Given the description of an element on the screen output the (x, y) to click on. 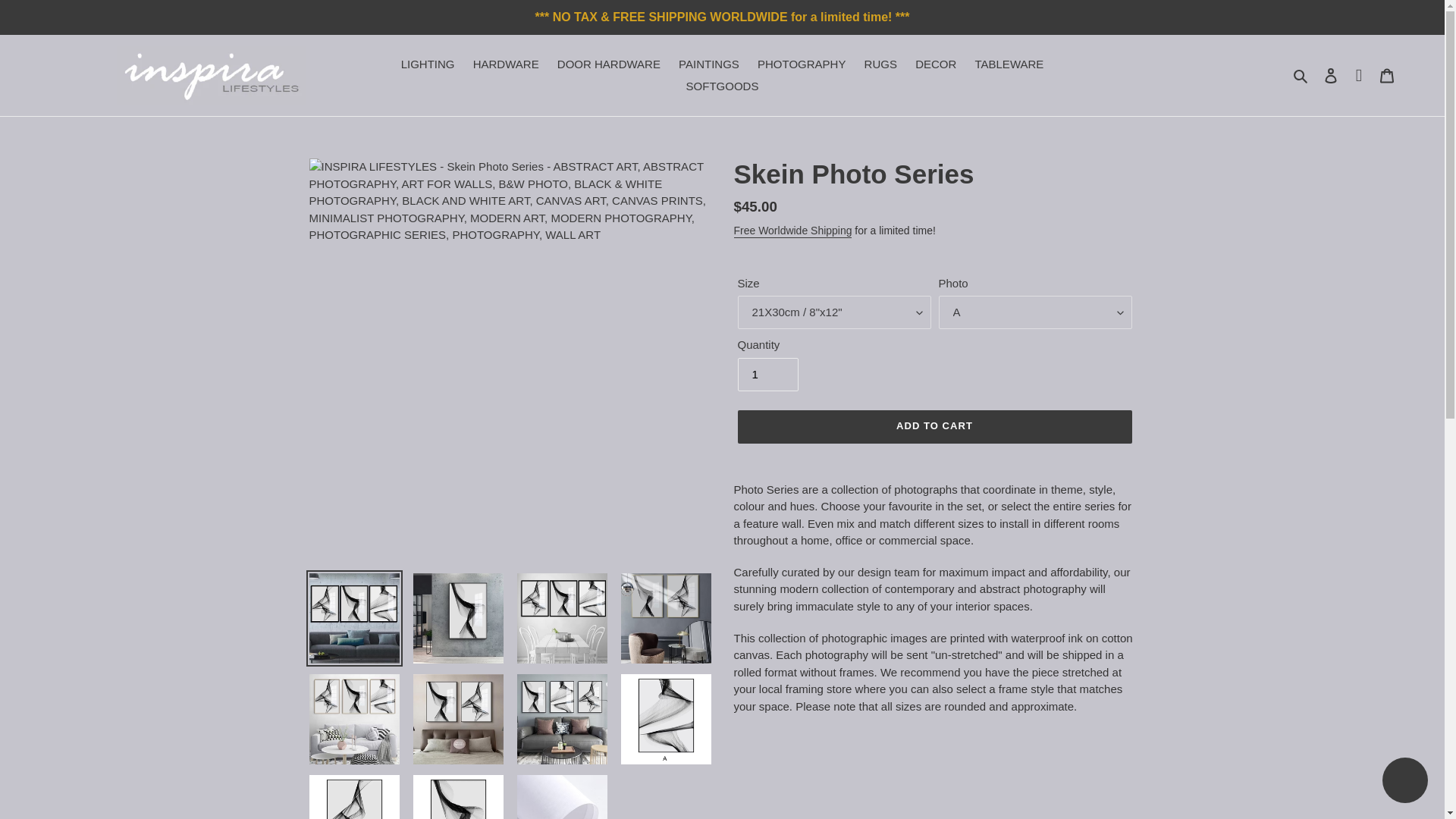
TABLEWARE (1008, 65)
1 (766, 374)
DECOR (935, 65)
RUGS (880, 65)
HARDWARE (506, 65)
Search (1301, 75)
DOOR HARDWARE (609, 65)
Cart (1387, 74)
Log in (1330, 74)
Shopify online store chat (1404, 781)
